Given the description of an element on the screen output the (x, y) to click on. 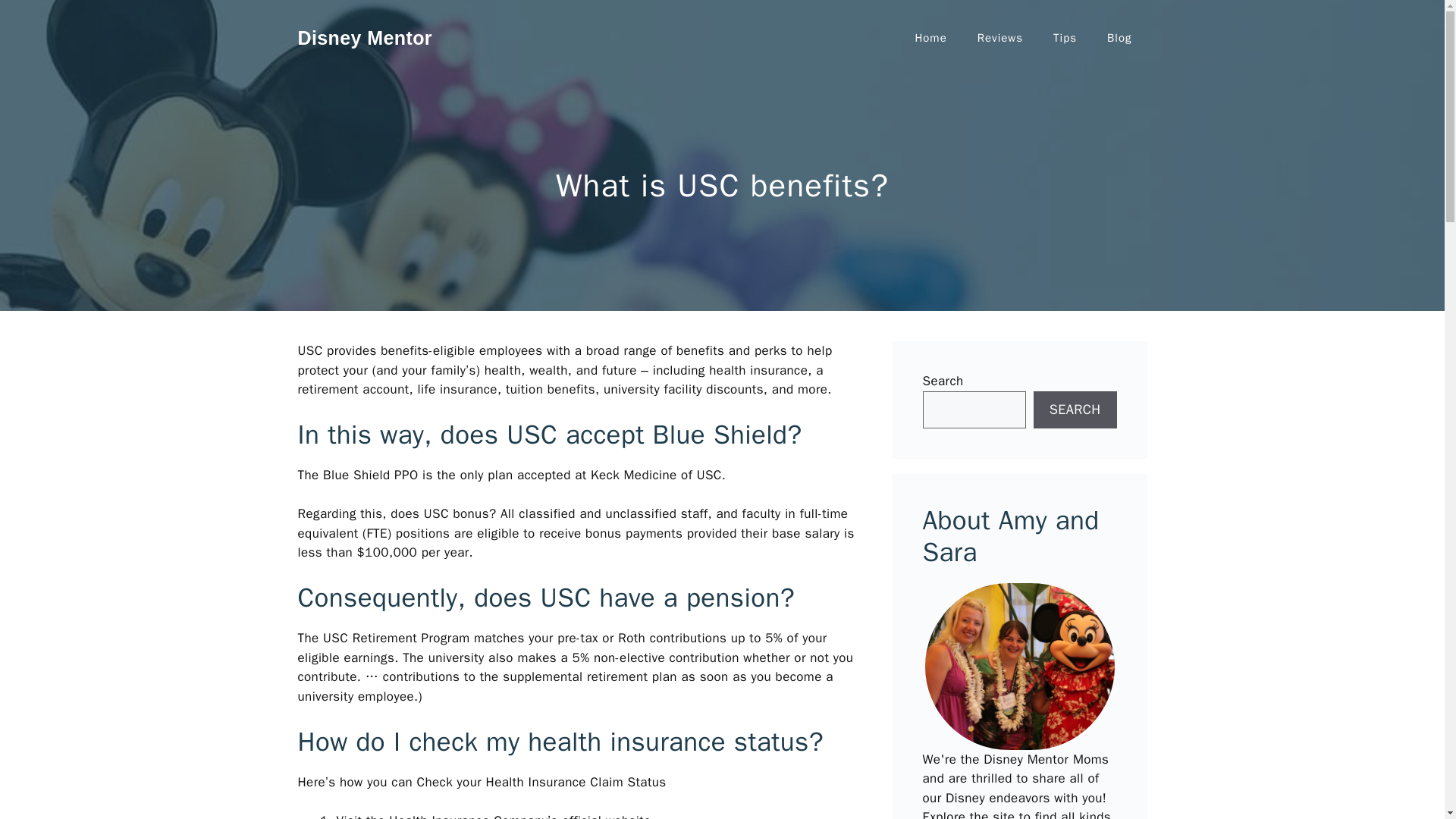
Disney Mentor (363, 37)
Reviews (1000, 37)
SEARCH (1074, 409)
Tips (1065, 37)
Blog (1119, 37)
Home (929, 37)
